Given the description of an element on the screen output the (x, y) to click on. 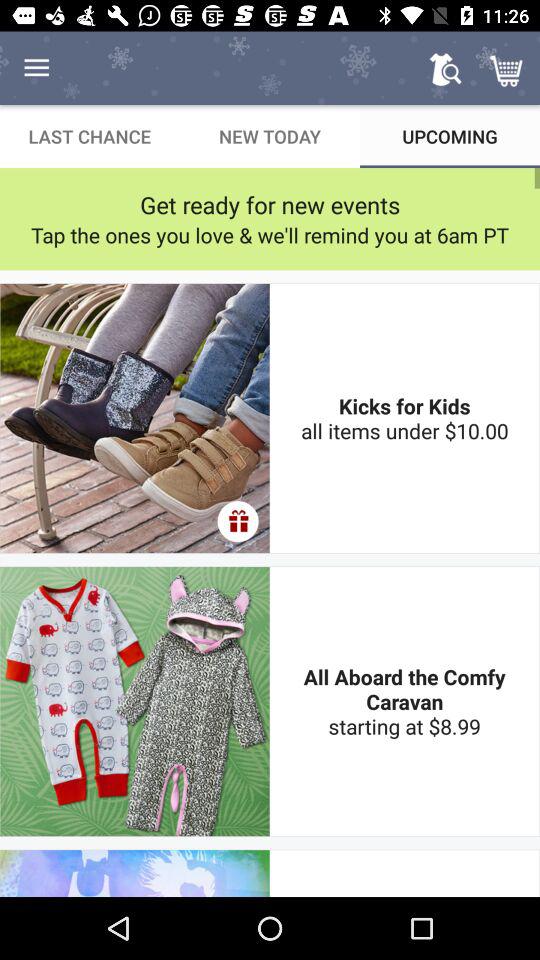
click the icon below tap the ones icon (238, 521)
